Given the description of an element on the screen output the (x, y) to click on. 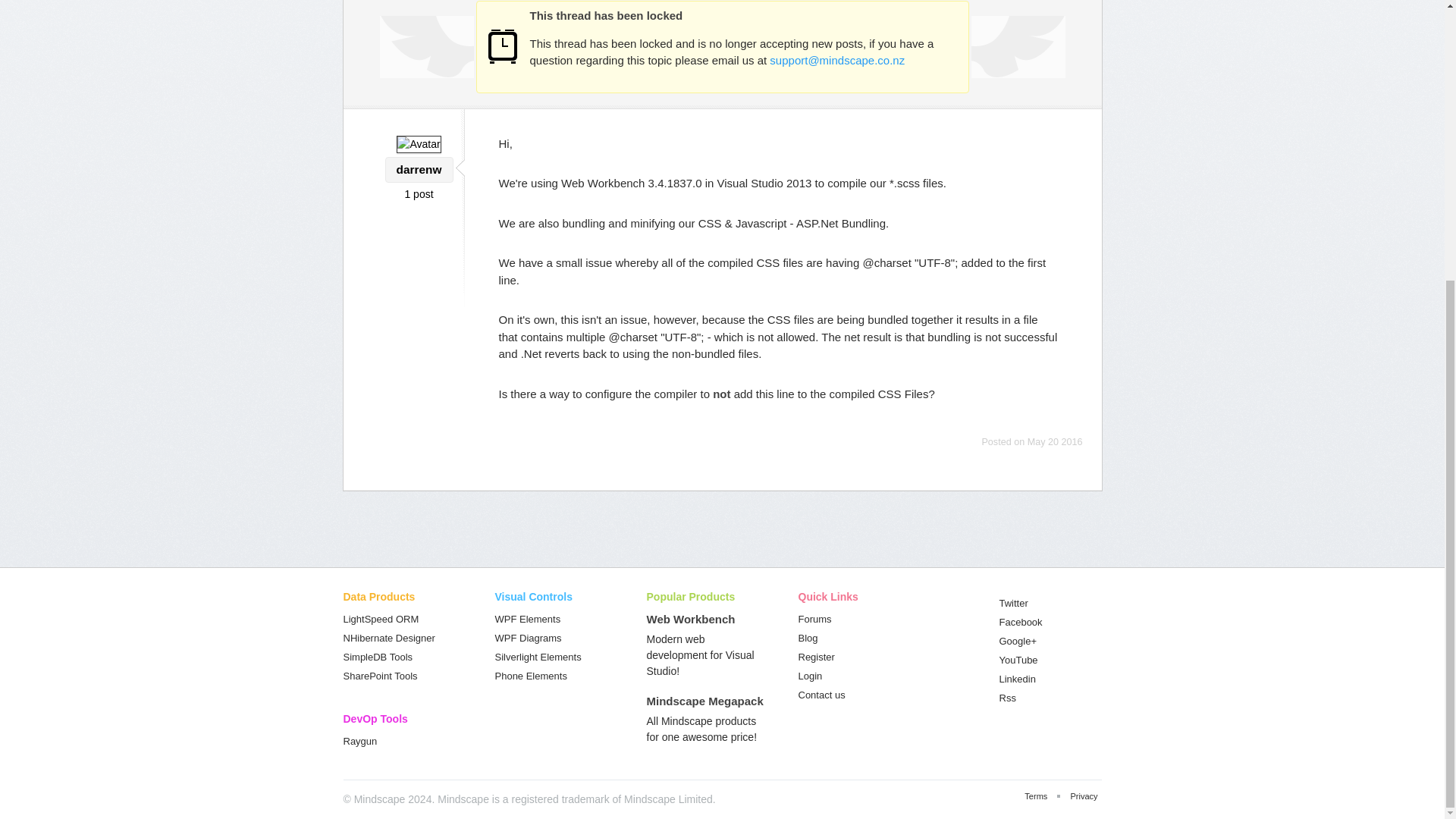
LightSpeed ORM (380, 618)
darrenw (419, 168)
